Given the description of an element on the screen output the (x, y) to click on. 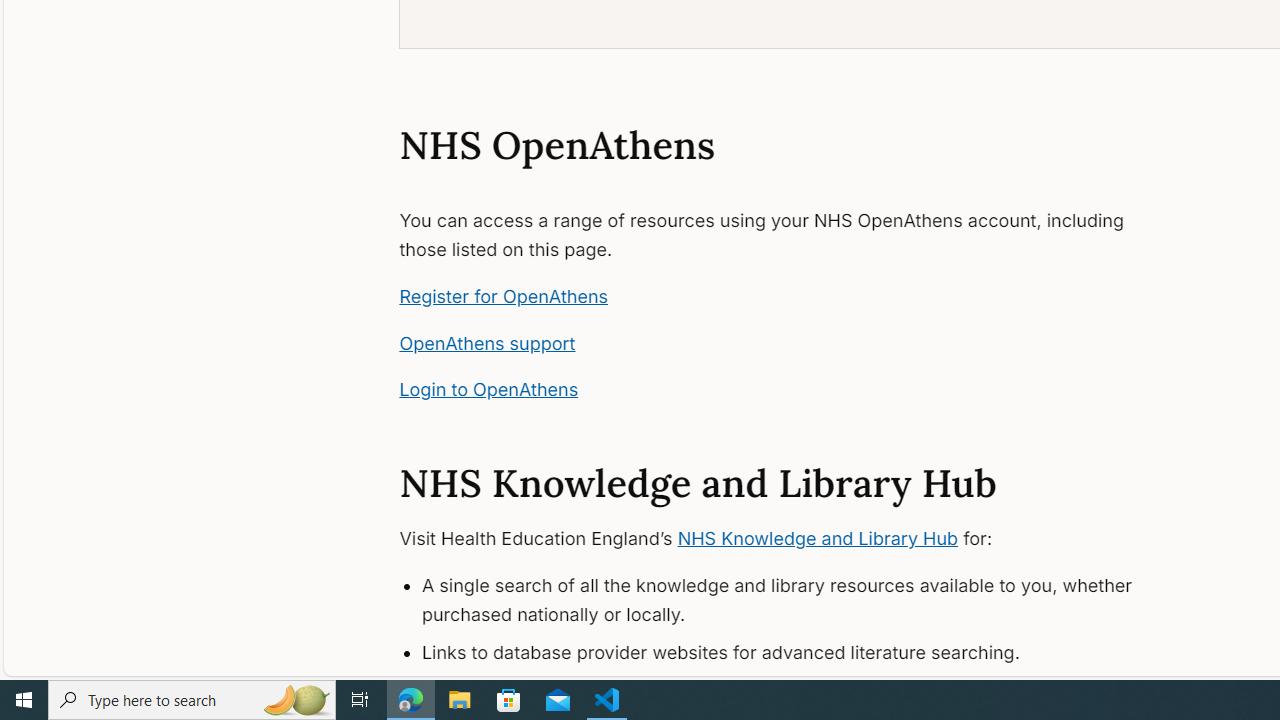
Register for OpenAthens (504, 295)
NHS Knowledge and Library Hub (817, 538)
Login to OpenAthens (488, 389)
OpenAthens support (487, 342)
